Given the description of an element on the screen output the (x, y) to click on. 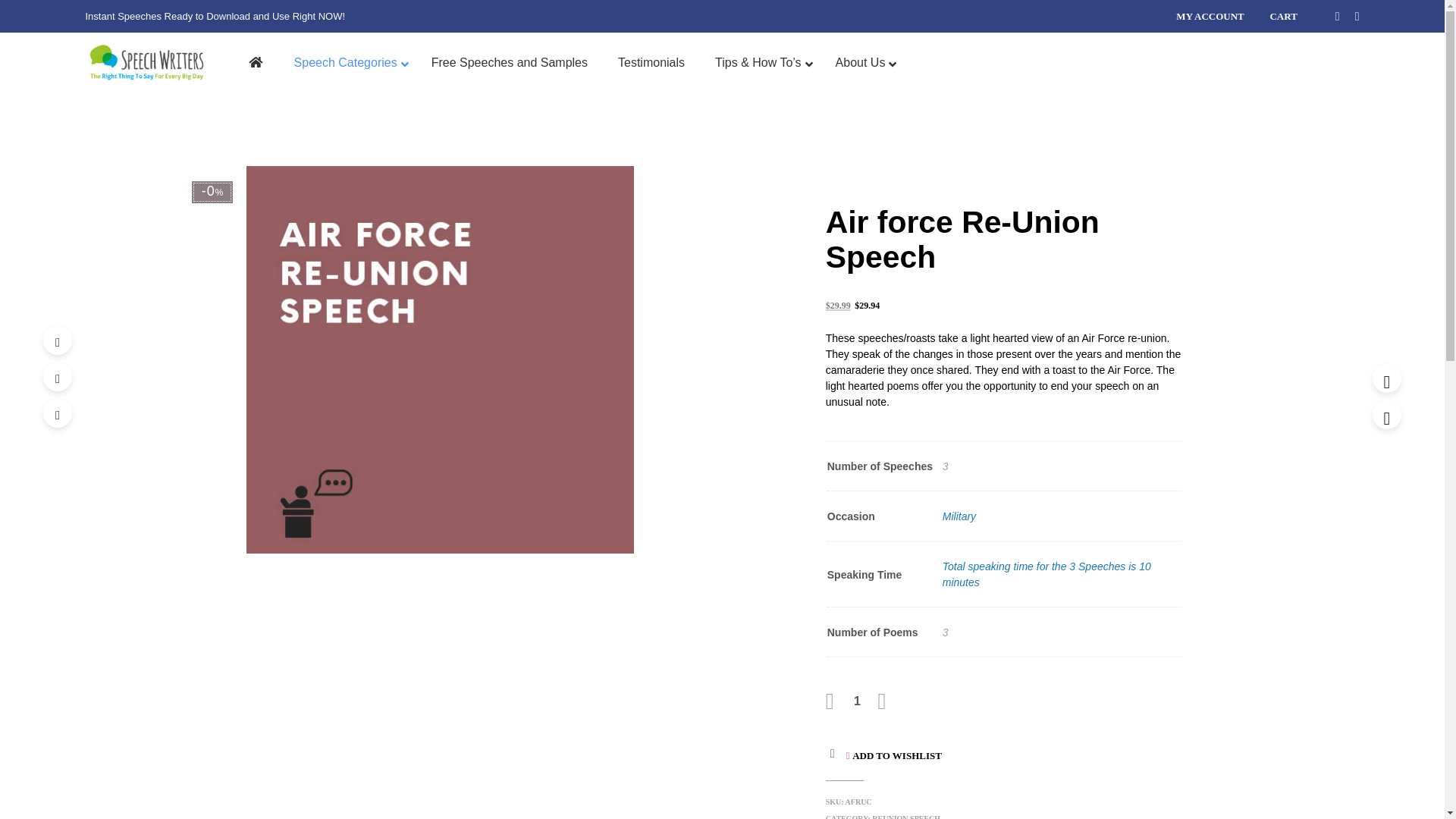
0 (1251, 62)
MY ACCOUNT (1209, 16)
Instant Speeches Ready to Download and Use Right NOW! (144, 62)
0 (1289, 62)
Qty (857, 701)
Speech Categories (347, 63)
1 (857, 701)
CART (1282, 16)
